Given the description of an element on the screen output the (x, y) to click on. 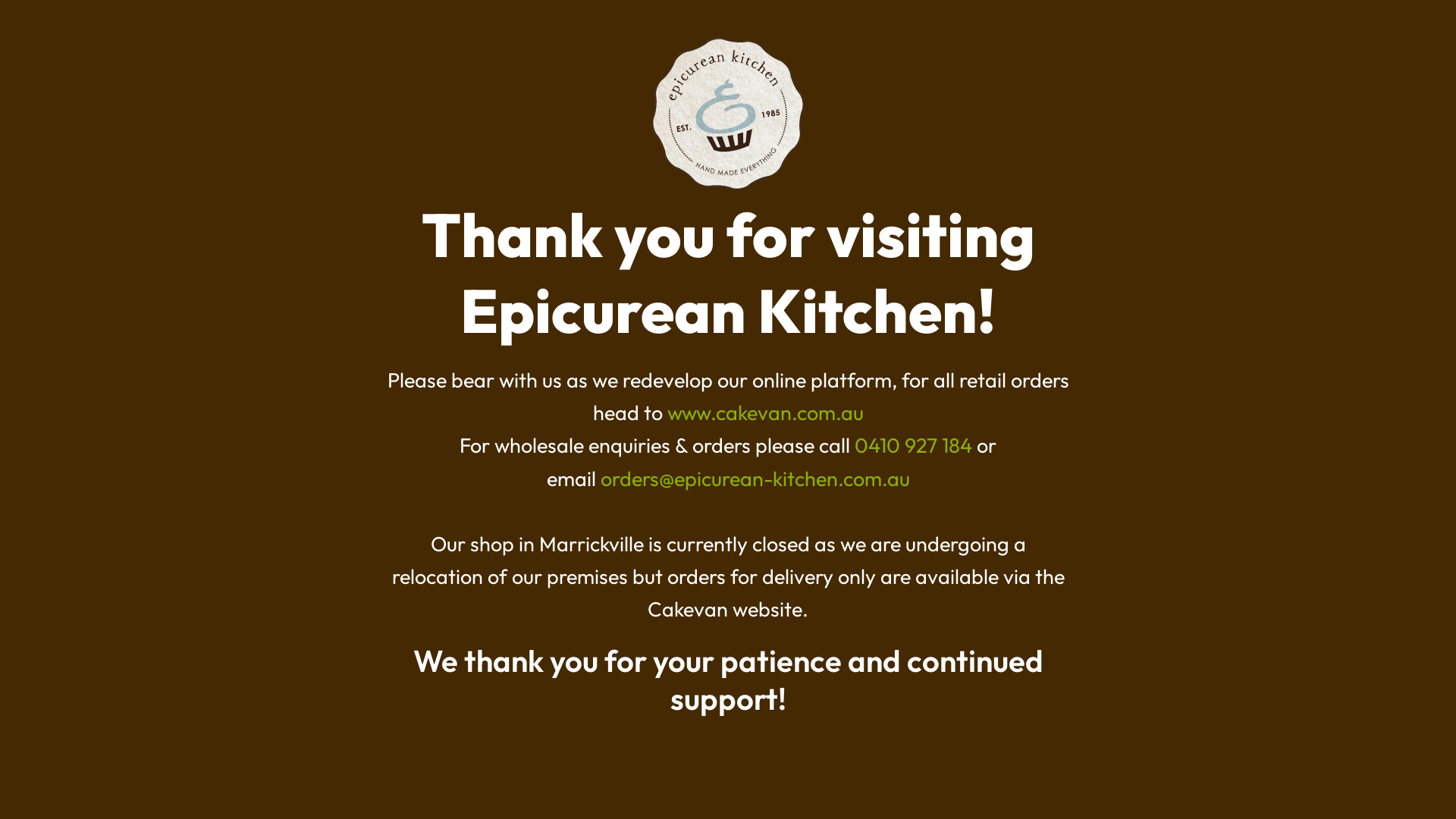
www.cakevan.com.au Element type: text (765, 412)
orders@epicurean-kitchen.com.au Element type: text (755, 478)
0410 927 184 Element type: text (913, 445)
